Given the description of an element on the screen output the (x, y) to click on. 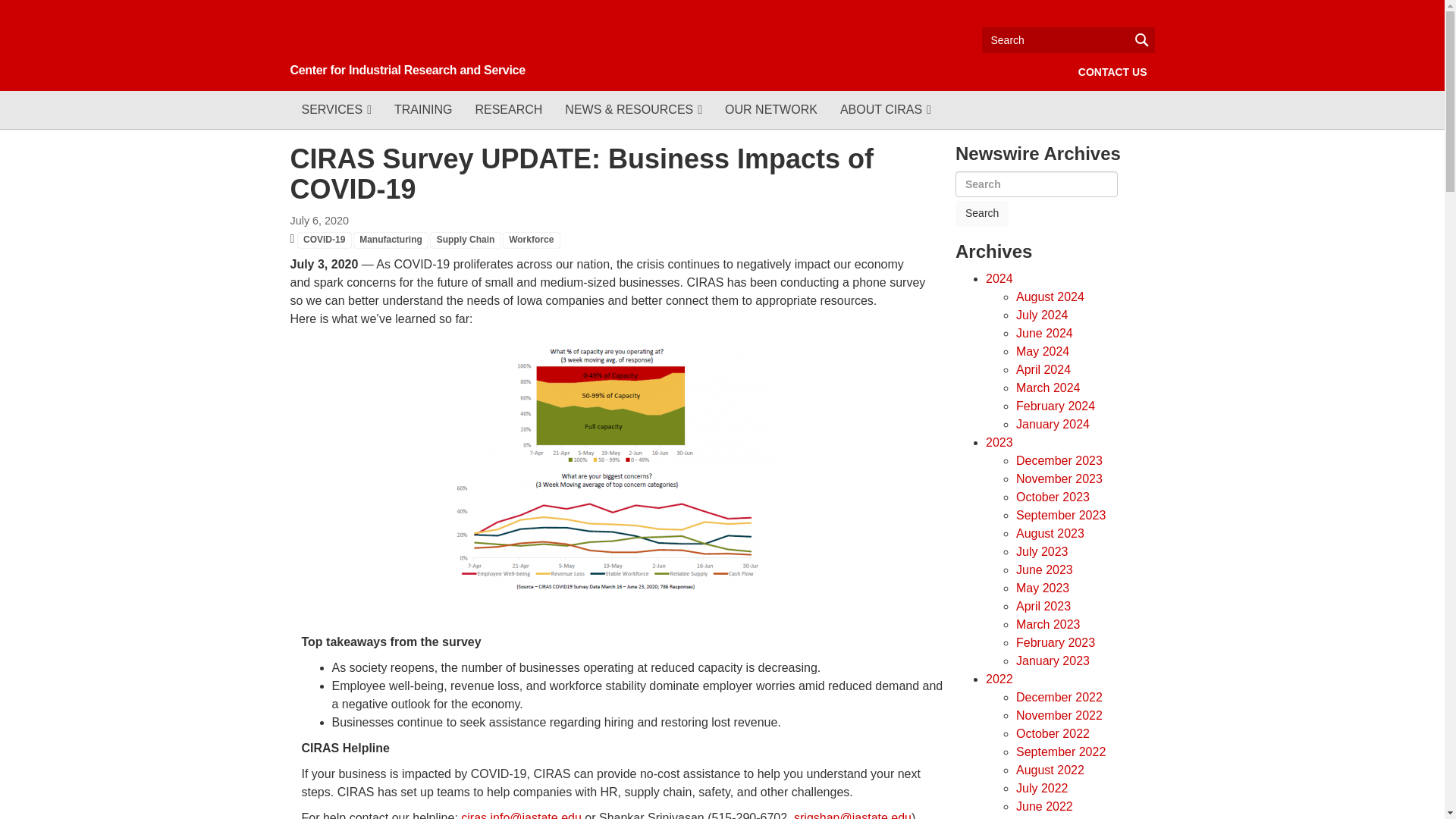
RESEARCH (508, 109)
CONTACT US (1112, 71)
Search (982, 213)
Home (425, 50)
Search (1067, 40)
Search (982, 213)
Posted On July 6, 2020 6:29 am (319, 219)
TRAINING (422, 109)
SERVICES (335, 109)
